Given the description of an element on the screen output the (x, y) to click on. 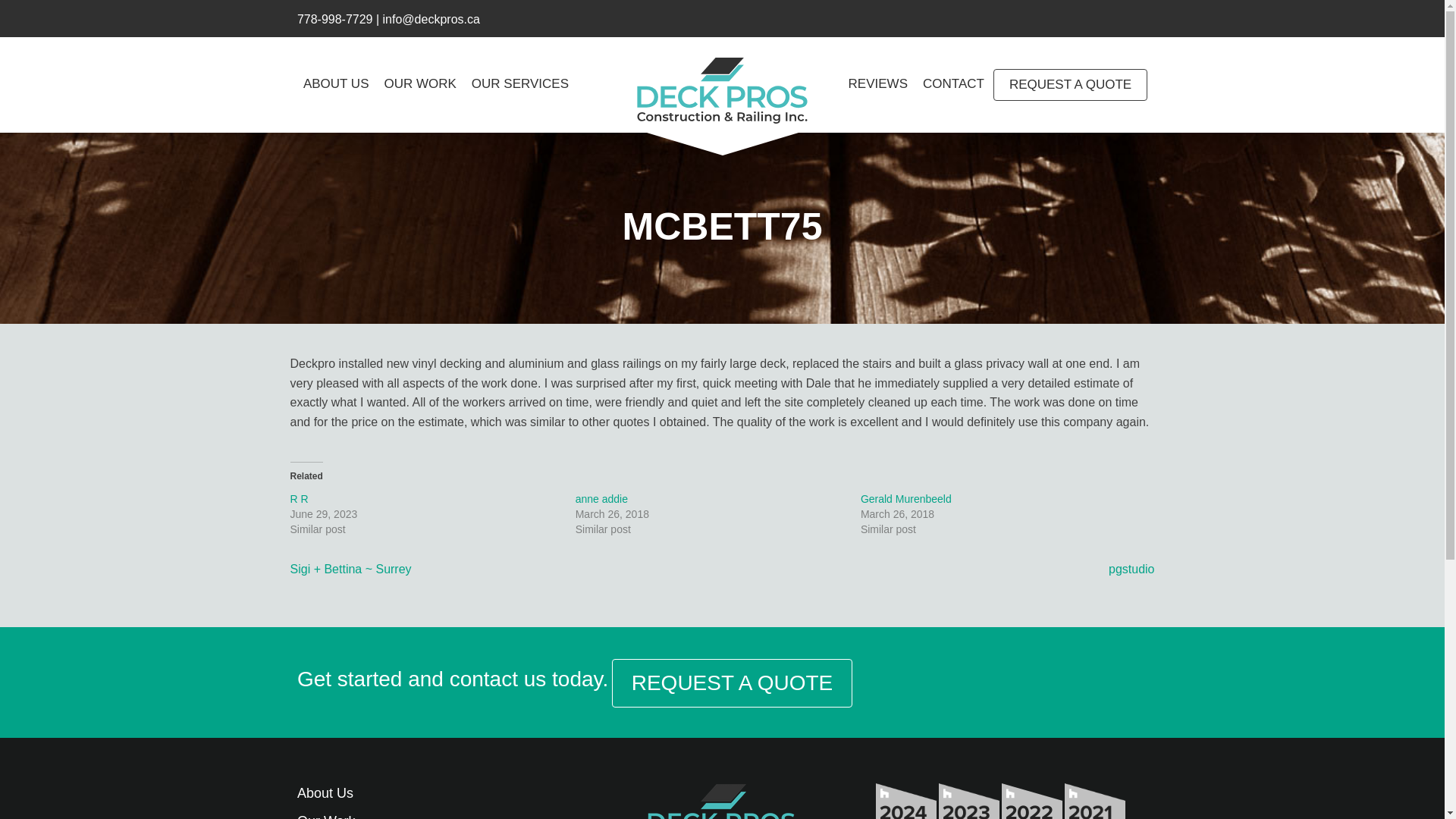
OUR SERVICES (520, 83)
ABOUT US (336, 83)
REQUEST A QUOTE (1069, 84)
R R (298, 499)
pgstudio (1131, 568)
anne addie (601, 499)
REVIEWS (878, 83)
Gerald Murenbeeld (906, 499)
OUR WORK (419, 83)
Our Work (326, 816)
778-998-7729 (334, 19)
About Us (325, 792)
REQUEST A QUOTE (732, 683)
CONTACT (953, 83)
Gerald Murenbeeld (906, 499)
